Given the description of an element on the screen output the (x, y) to click on. 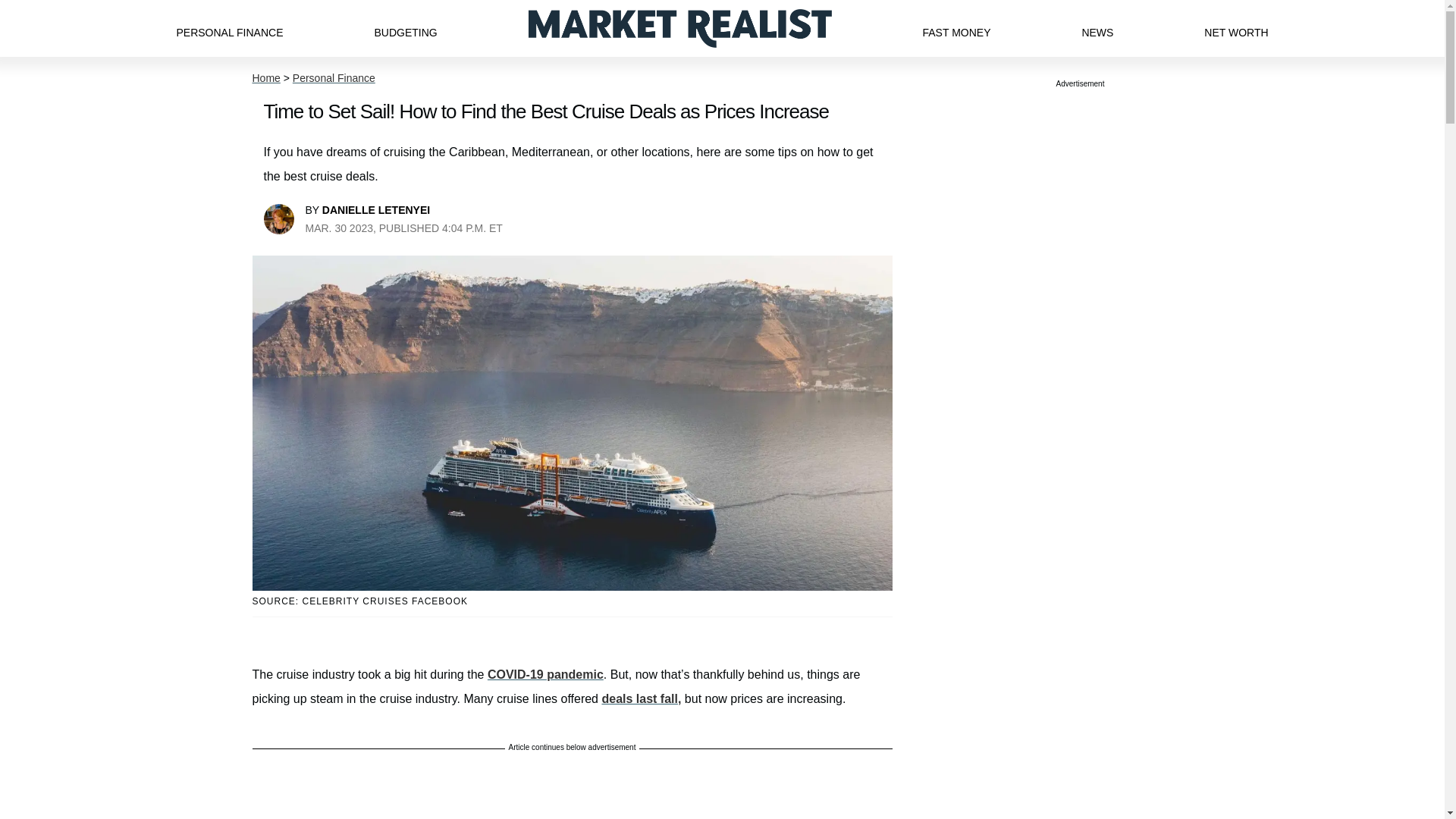
BUDGETING (405, 27)
NET WORTH (1236, 27)
NEWS (1097, 27)
COVID-19 pandemic (545, 674)
Home (265, 78)
DANIELLE LETENYEI (375, 209)
Personal Finance (333, 78)
FAST MONEY (955, 27)
PERSONAL FINANCE (229, 27)
deals last fall, (641, 698)
